Given the description of an element on the screen output the (x, y) to click on. 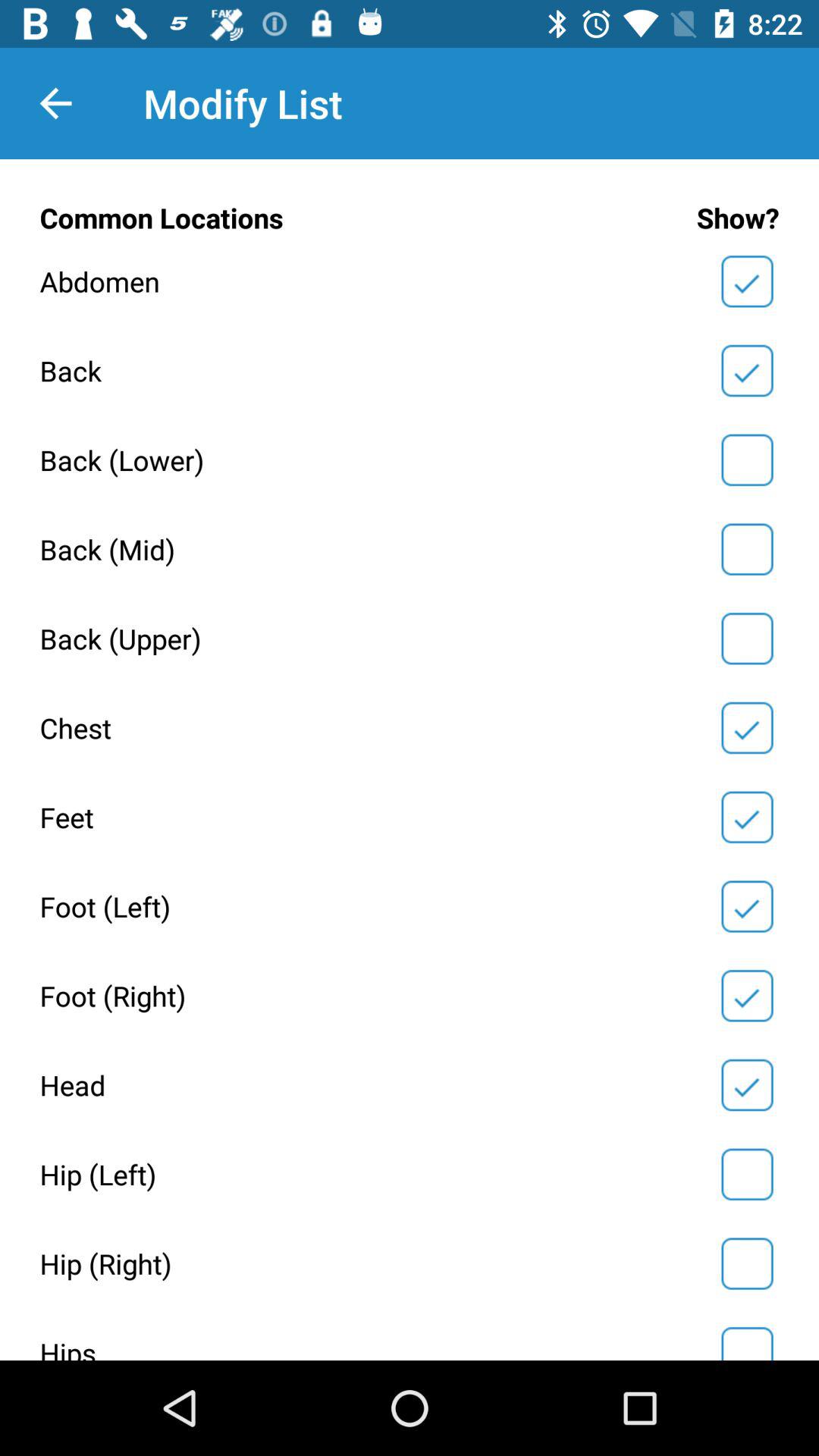
tick on button (747, 1340)
